Given the description of an element on the screen output the (x, y) to click on. 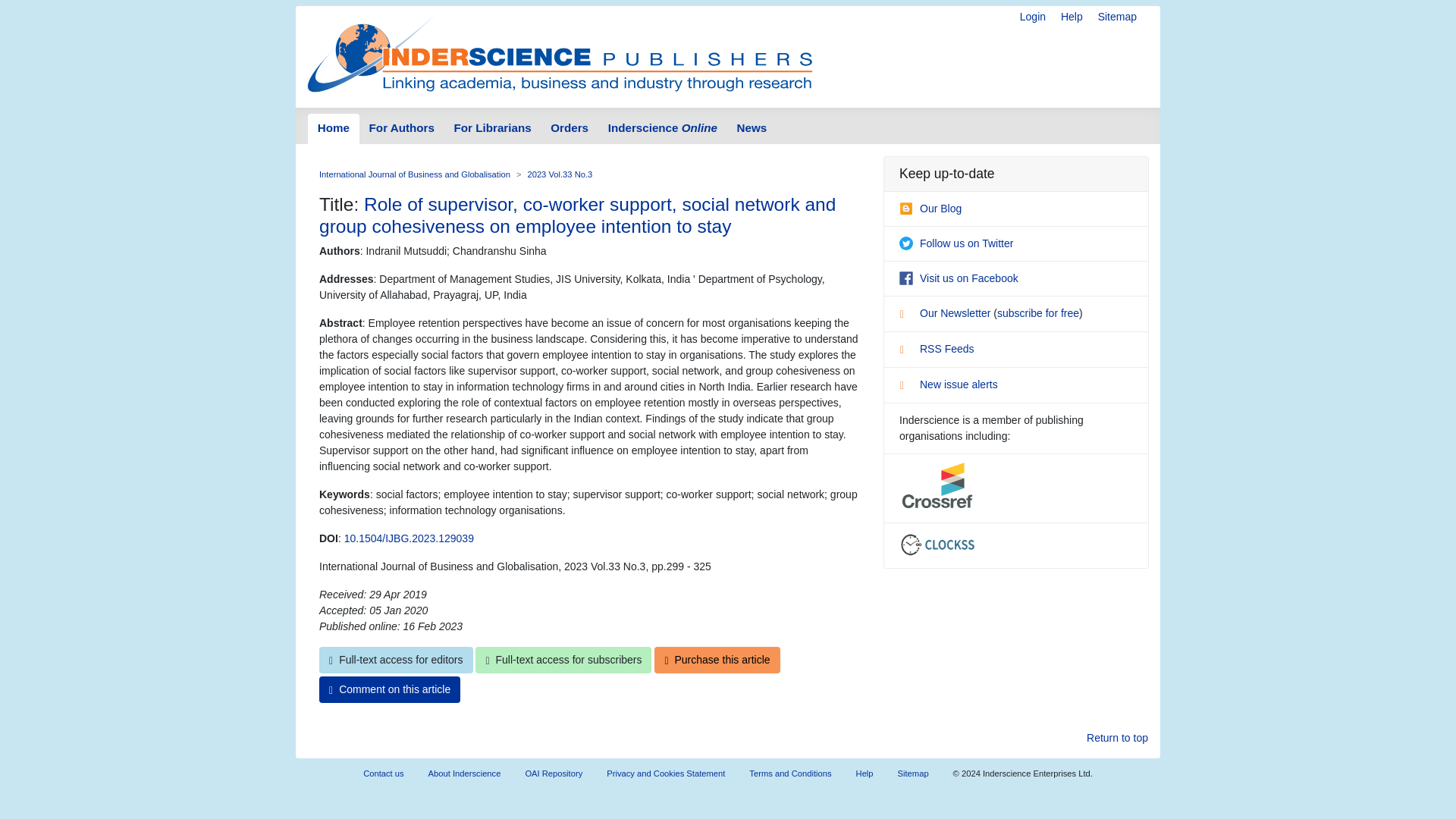
Home (333, 128)
Sitemap (1117, 16)
Help (1072, 16)
Login (1032, 16)
Our Blog (929, 208)
Full-text access for subscribers (563, 660)
list (906, 315)
Orders (568, 128)
Our Newsletter (945, 313)
Inderscience Publishers - return to the homepage (559, 50)
